Given the description of an element on the screen output the (x, y) to click on. 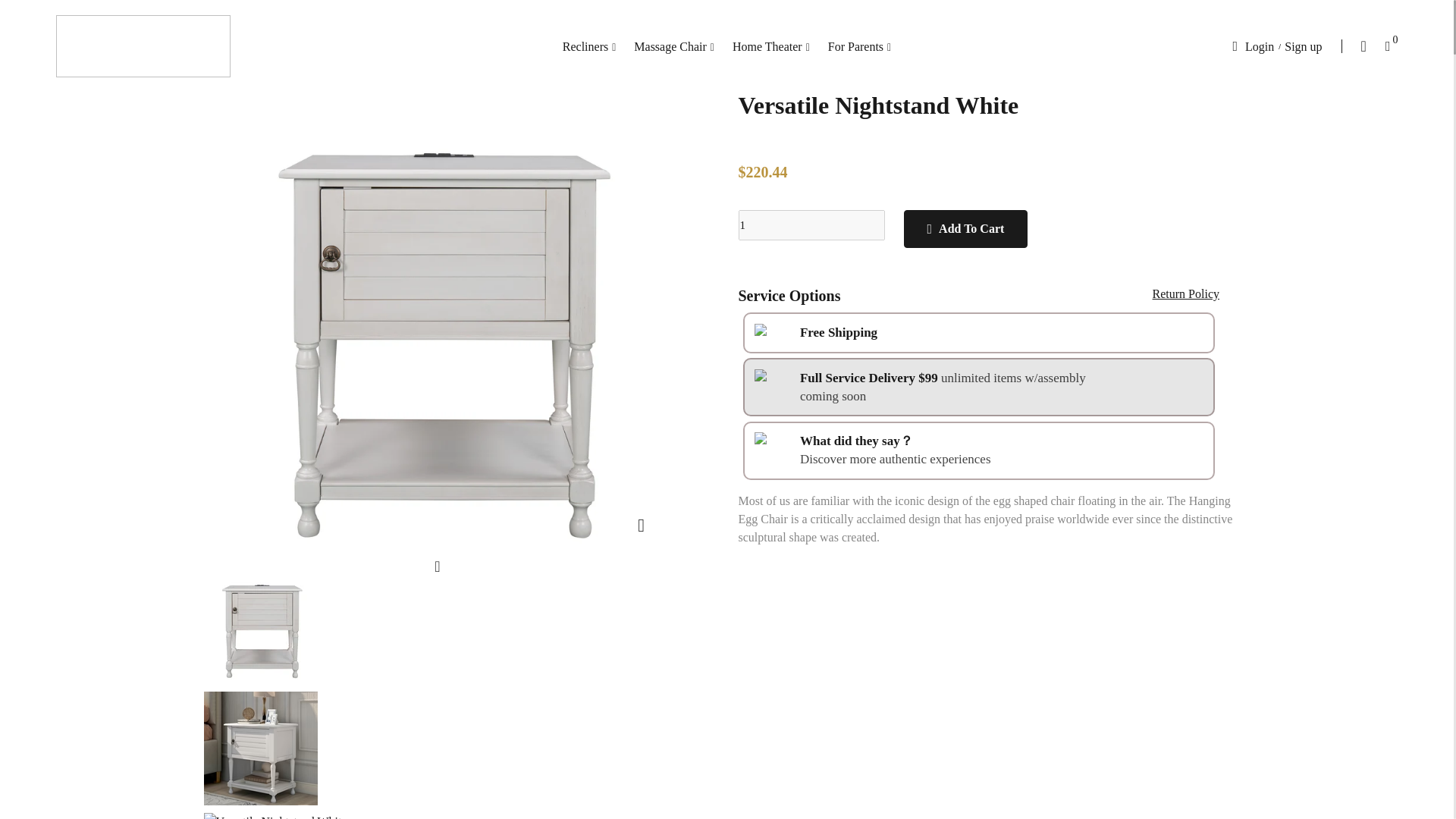
Massage Chair (674, 45)
Home Theater (770, 45)
Comhoma (143, 45)
Recliners (589, 45)
1 (811, 224)
